Given the description of an element on the screen output the (x, y) to click on. 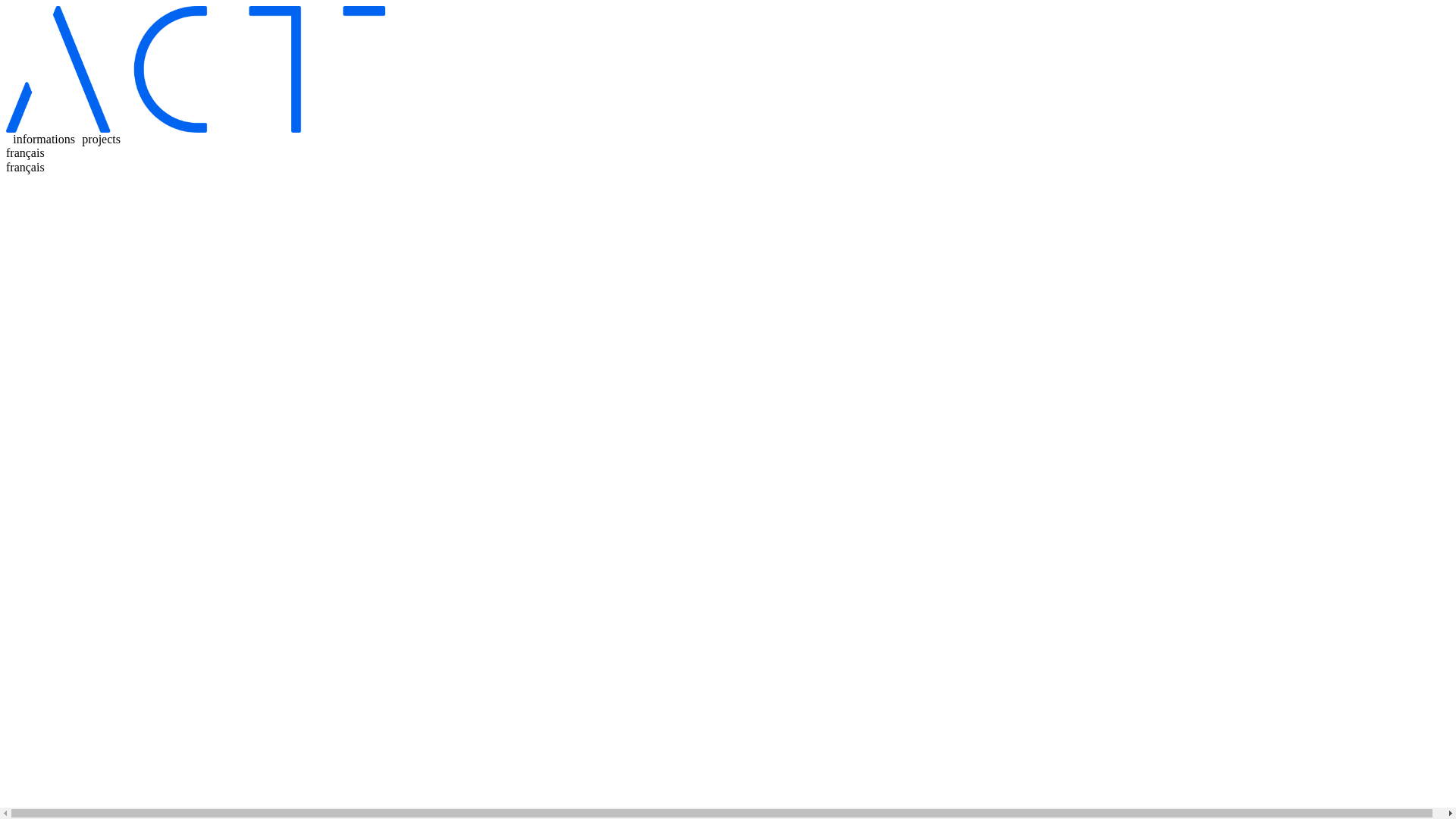
projects Element type: text (100, 138)
informations Element type: text (43, 138)
